Given the description of an element on the screen output the (x, y) to click on. 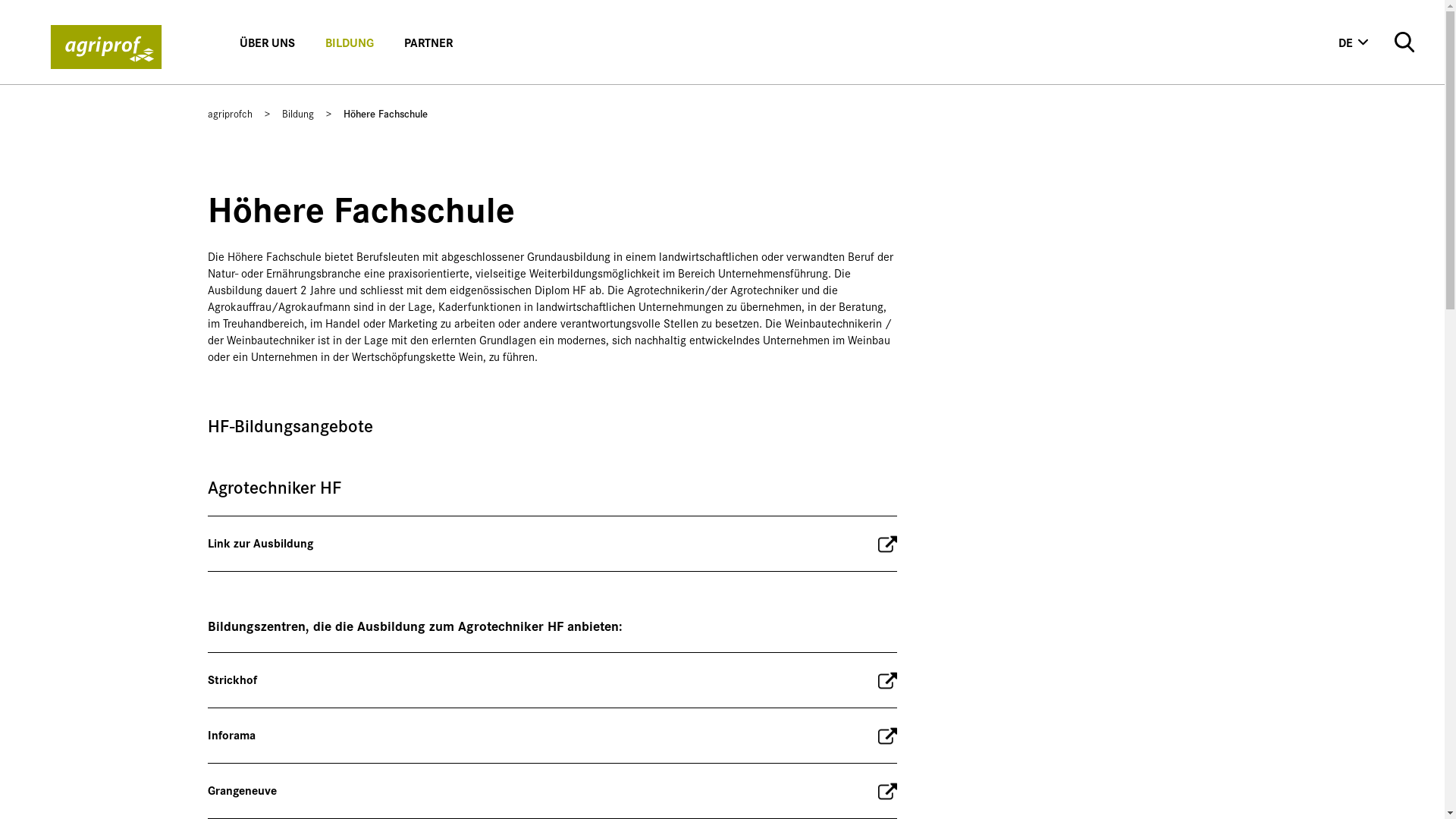
Grangeneuve Element type: text (552, 790)
Link zur Ausbildung Element type: text (552, 543)
Strickhof Element type: text (552, 679)
Inforama Element type: text (552, 735)
agriprofch Element type: text (229, 112)
PARTNER Element type: text (428, 41)
BILDUNG Element type: text (349, 41)
DE Element type: text (1353, 41)
Bildung Element type: text (297, 112)
